Given the description of an element on the screen output the (x, y) to click on. 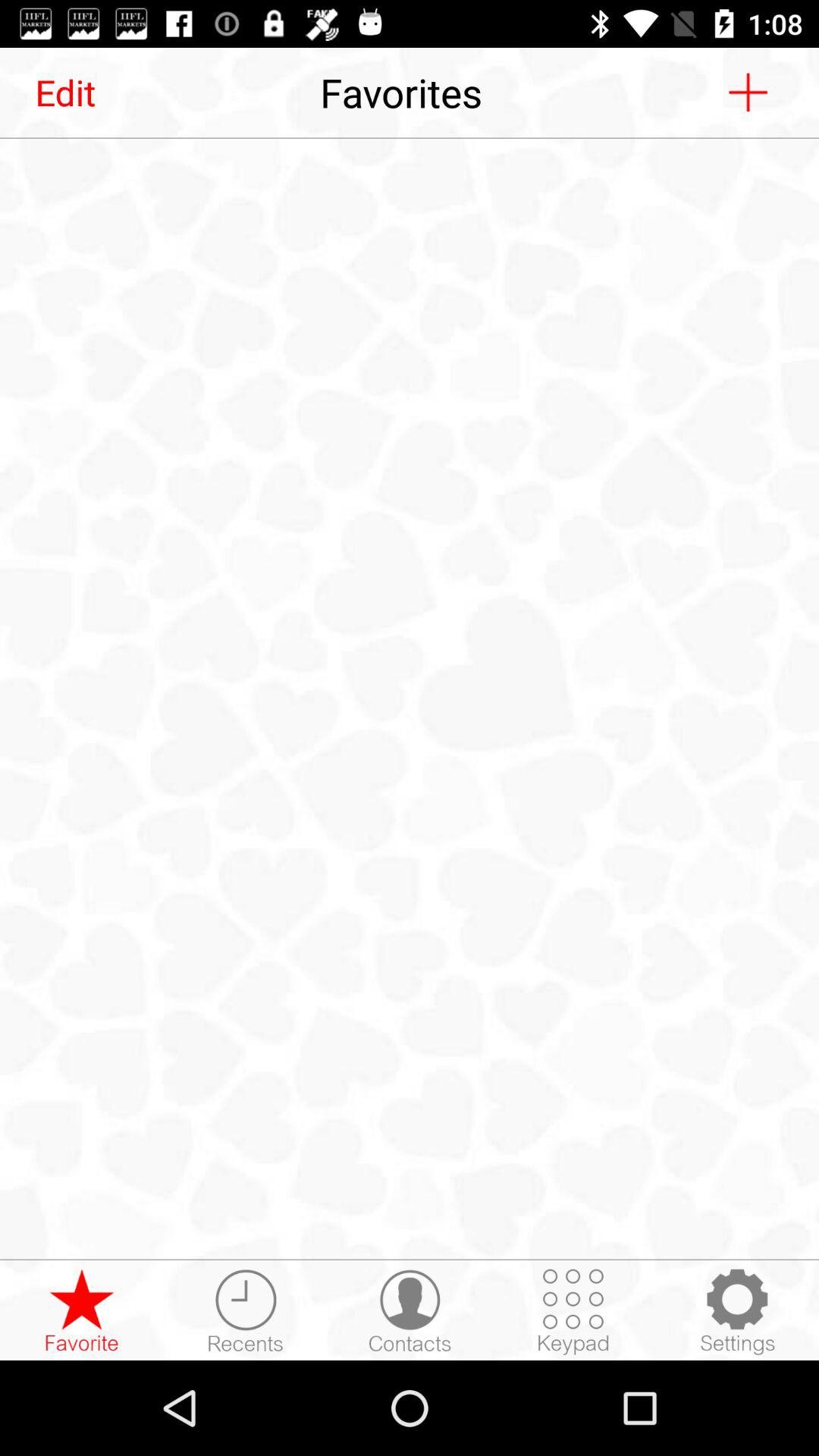
keypad (573, 1311)
